Given the description of an element on the screen output the (x, y) to click on. 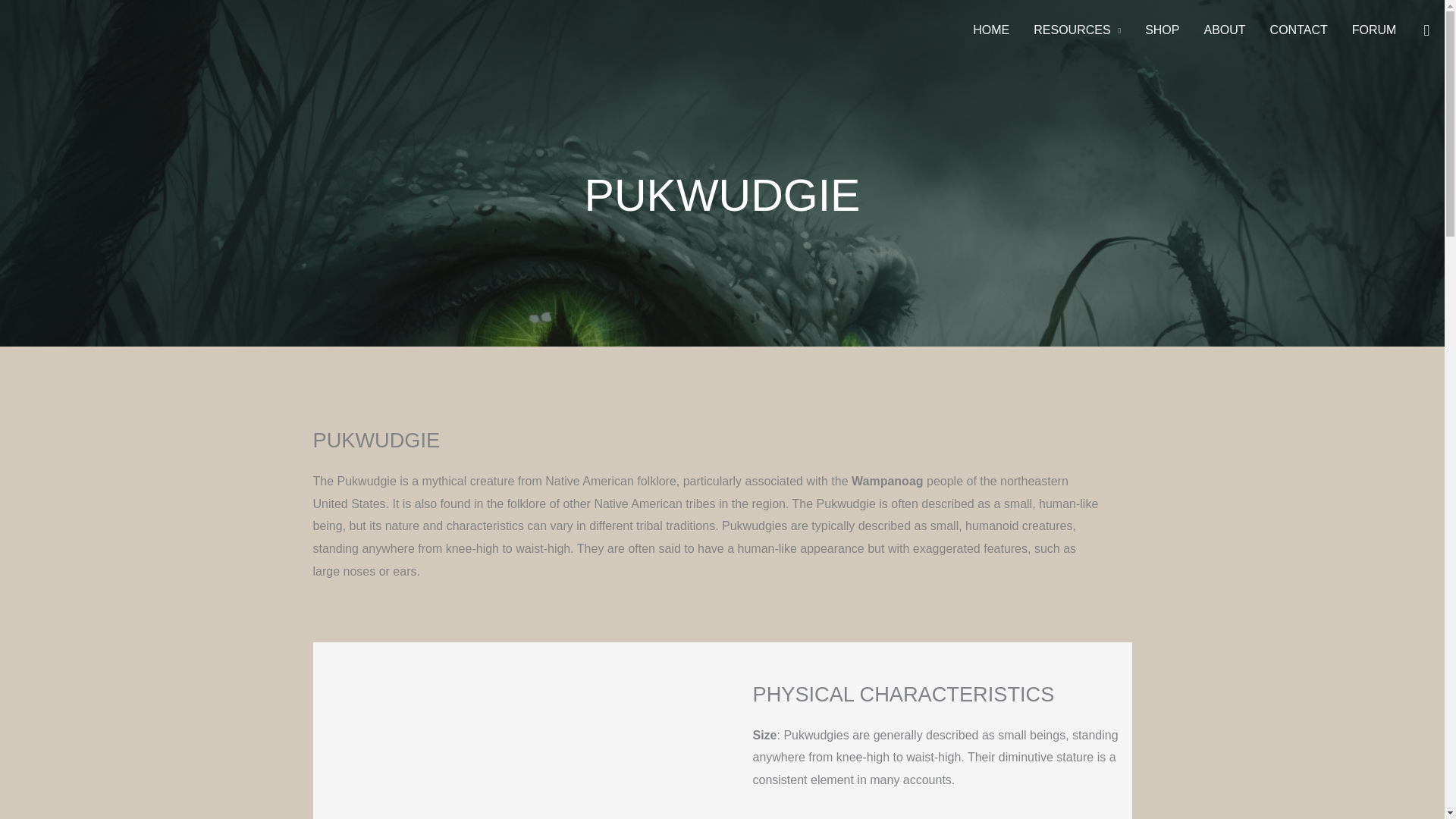
ABOUT (1224, 30)
FORUM (1374, 30)
SHOP (1161, 30)
HOME (991, 30)
RESOURCES (1077, 30)
CONTACT (1298, 30)
